Given the description of an element on the screen output the (x, y) to click on. 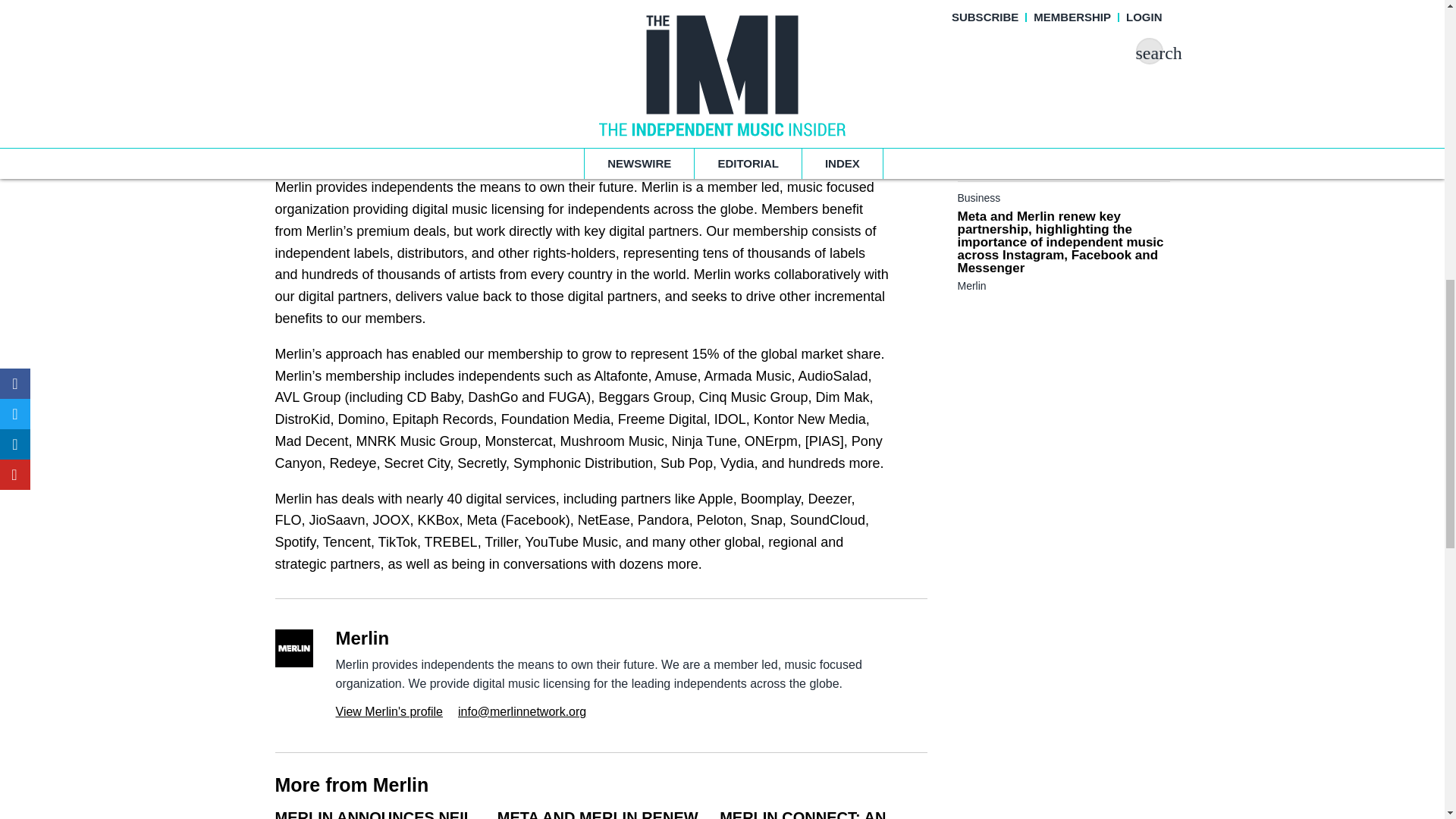
View Merlin's profile (388, 711)
The Midi Music Company presents The Breakout Club (1062, 136)
www.merlinnetwork.org (448, 116)
MERLIN ANNOUNCES NEIL MILLER AS GENERAL COUNSEL (373, 814)
